Given the description of an element on the screen output the (x, y) to click on. 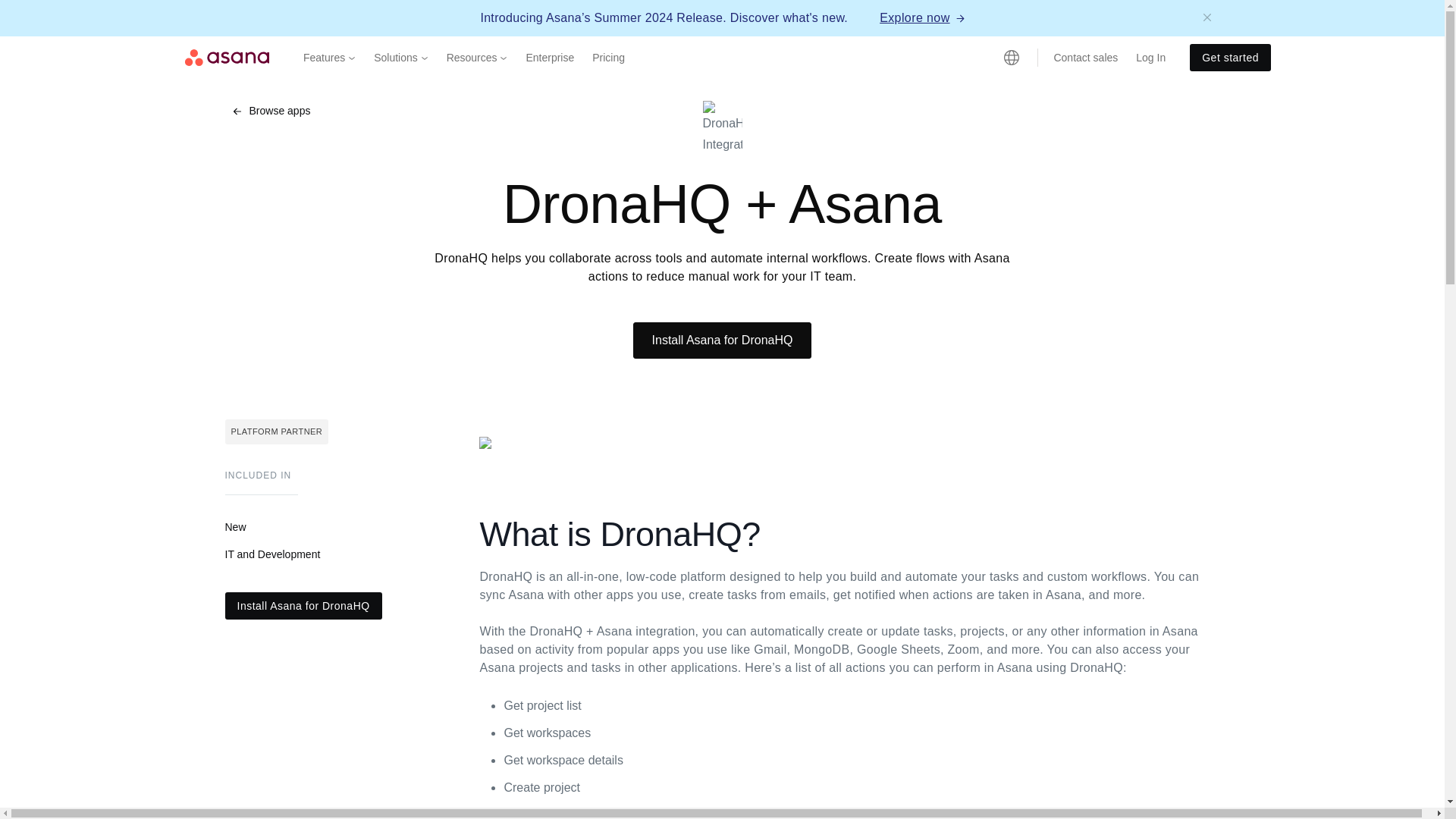
New (235, 526)
IT and Development (272, 553)
Install Asana for DronaHQ (302, 605)
Features chevron-down icon (329, 57)
Log In (1150, 57)
chevron-down icon (351, 58)
Resources chevron-down icon (477, 57)
Get started (1230, 57)
Contact sales (1084, 57)
Solutions chevron-down icon (400, 57)
Pricing (608, 57)
Explore now (921, 18)
Get started (1230, 57)
chevron-down icon (502, 58)
chevron-down icon (424, 58)
